Given the description of an element on the screen output the (x, y) to click on. 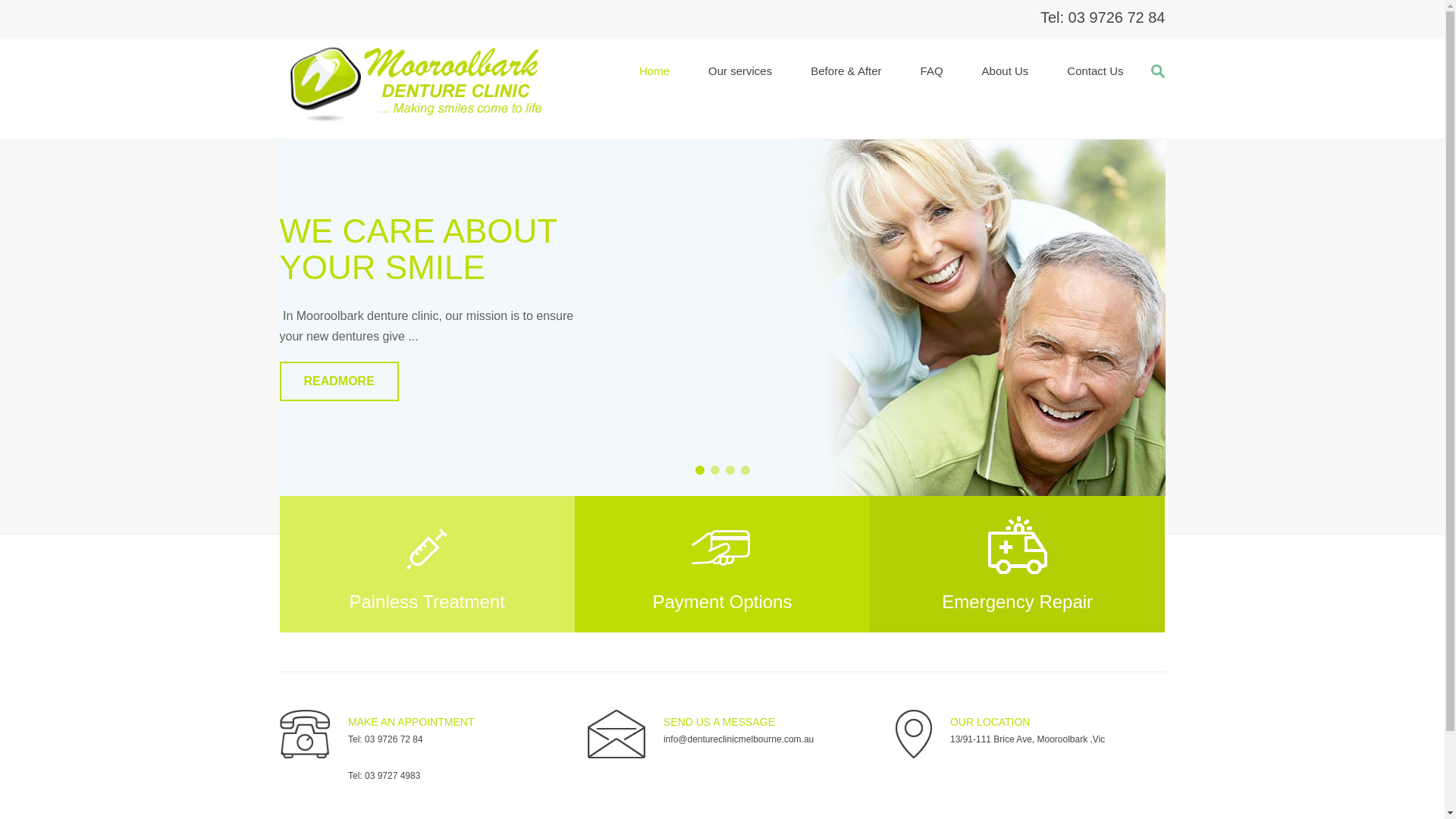
About Us Element type: text (1005, 70)
 Payment Options Element type: text (721, 563)
FAQ Element type: text (931, 70)
 Emergency Repair Element type: text (1016, 563)
Our services Element type: text (739, 70)
Contact Us Element type: text (1095, 70)
READMORE Element type: text (338, 381)
Before & After Element type: text (845, 70)
 Painless Treatment Element type: text (426, 563)
Home Element type: text (654, 70)
WE CARE ABOUT YOUR SMILE Element type: text (417, 248)
